Given the description of an element on the screen output the (x, y) to click on. 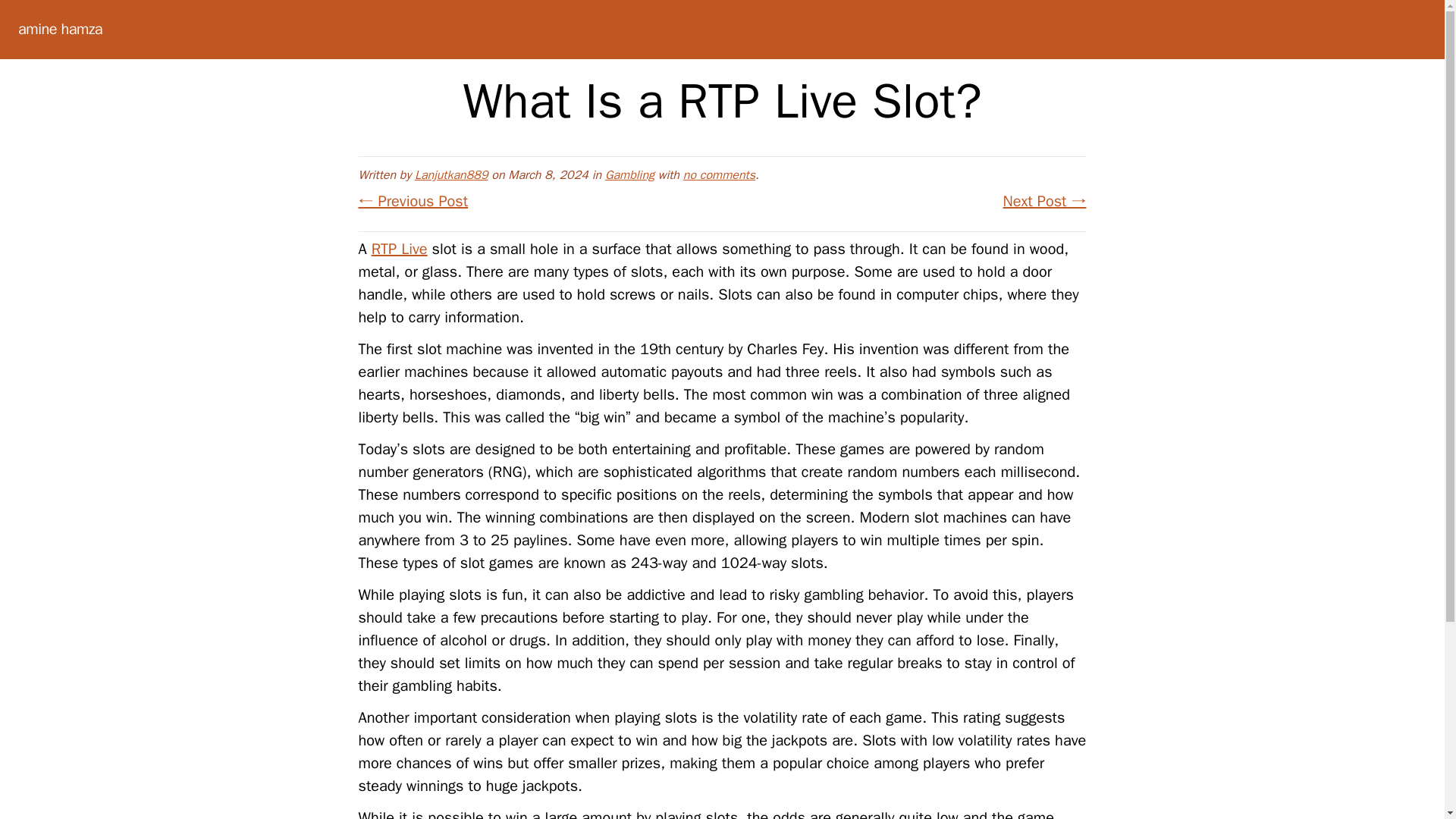
Lanjutkan889 (450, 174)
Gambling (629, 174)
amine hamza (59, 29)
RTP Live (399, 248)
no comments (718, 174)
no comments (718, 174)
